Given the description of an element on the screen output the (x, y) to click on. 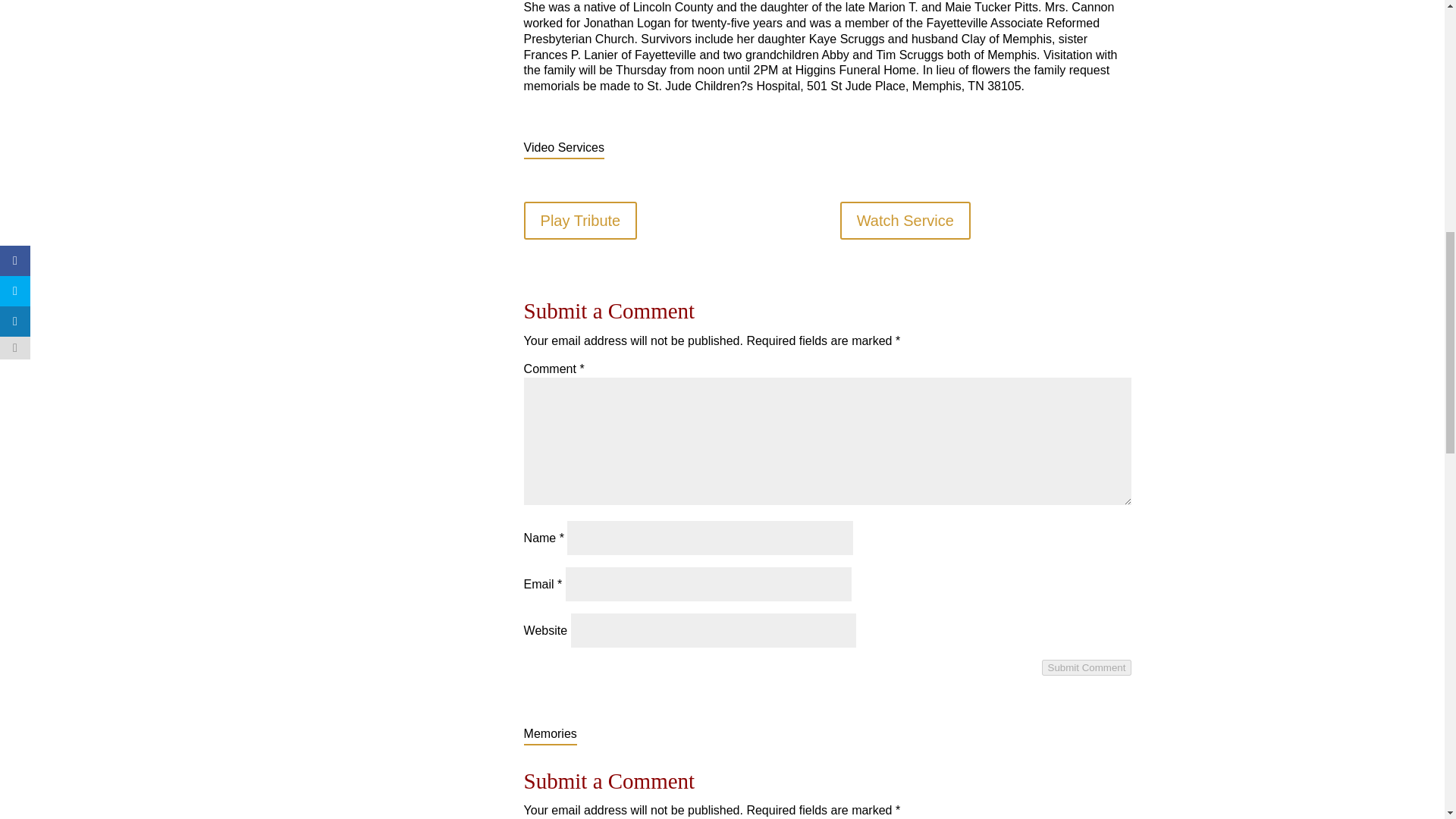
Submit Comment (1087, 667)
Play Tribute (580, 220)
Watch Service (905, 220)
